Given the description of an element on the screen output the (x, y) to click on. 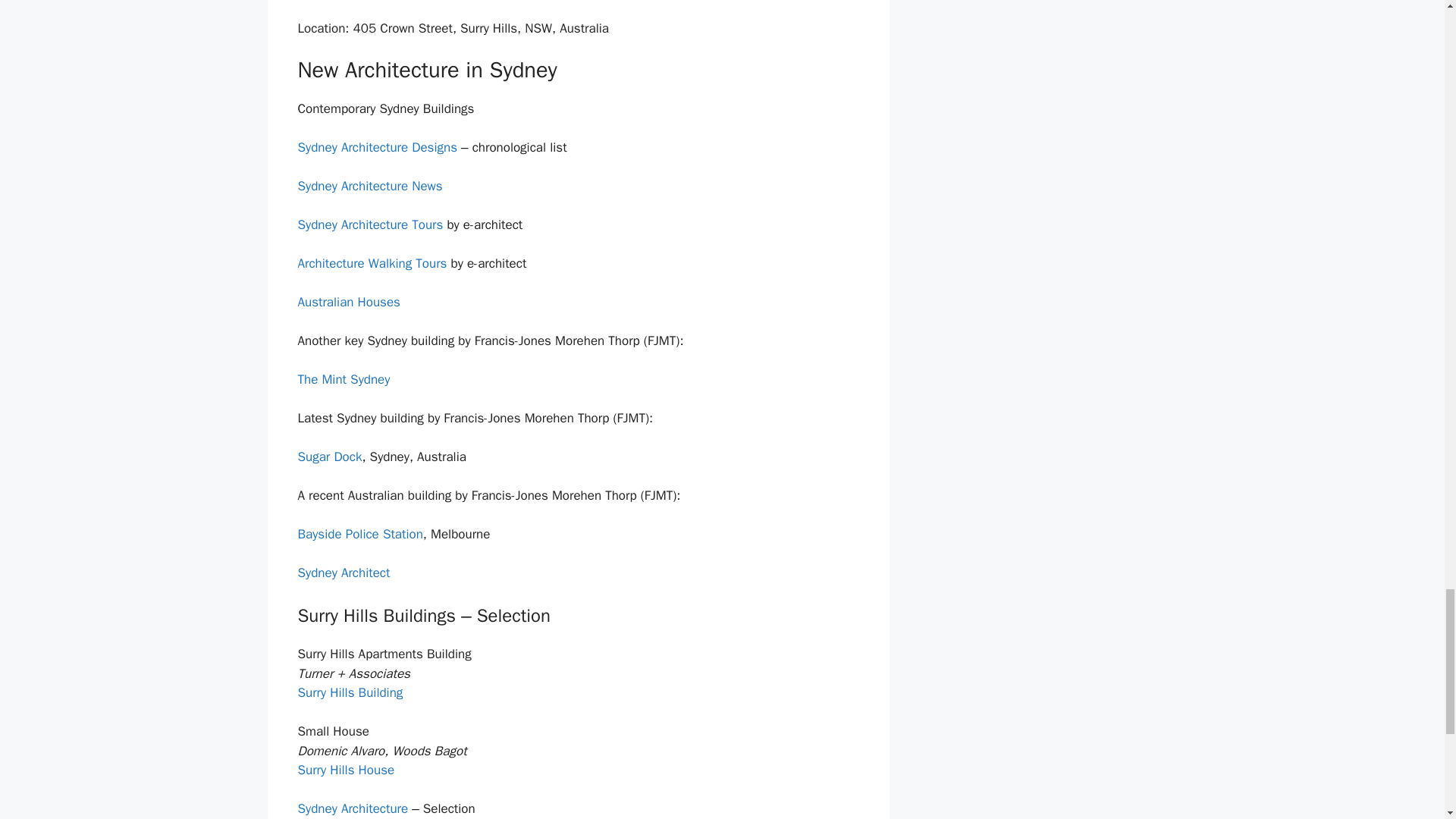
Sydney Architecture Designs (377, 147)
Sydney Architecture News (369, 186)
Sydney Architecture Tours (369, 224)
Architecture Walking Tours (371, 263)
